Given the description of an element on the screen output the (x, y) to click on. 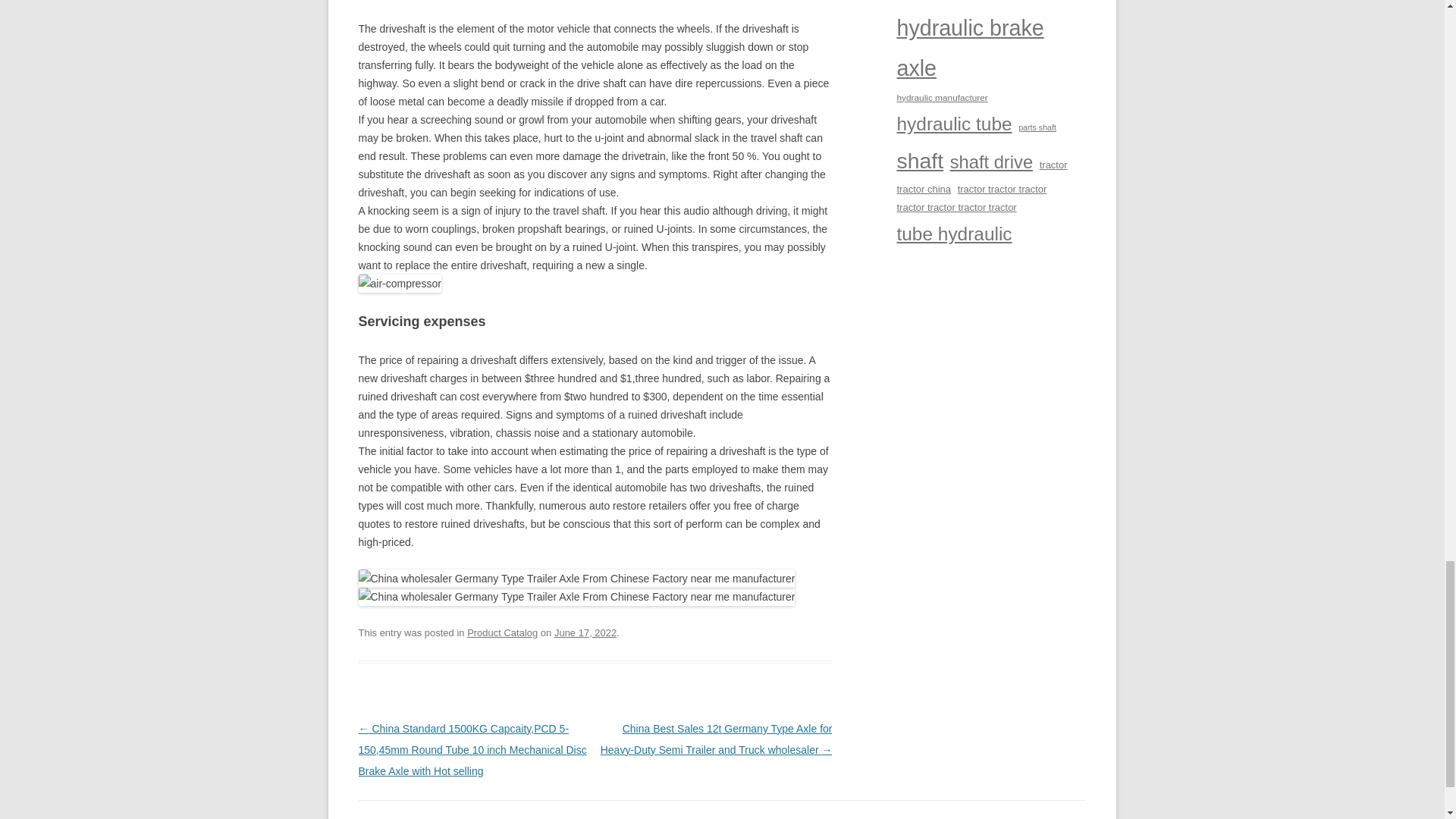
Product Catalog (502, 632)
June 17, 2022 (584, 632)
4:40 am (584, 632)
